Given the description of an element on the screen output the (x, y) to click on. 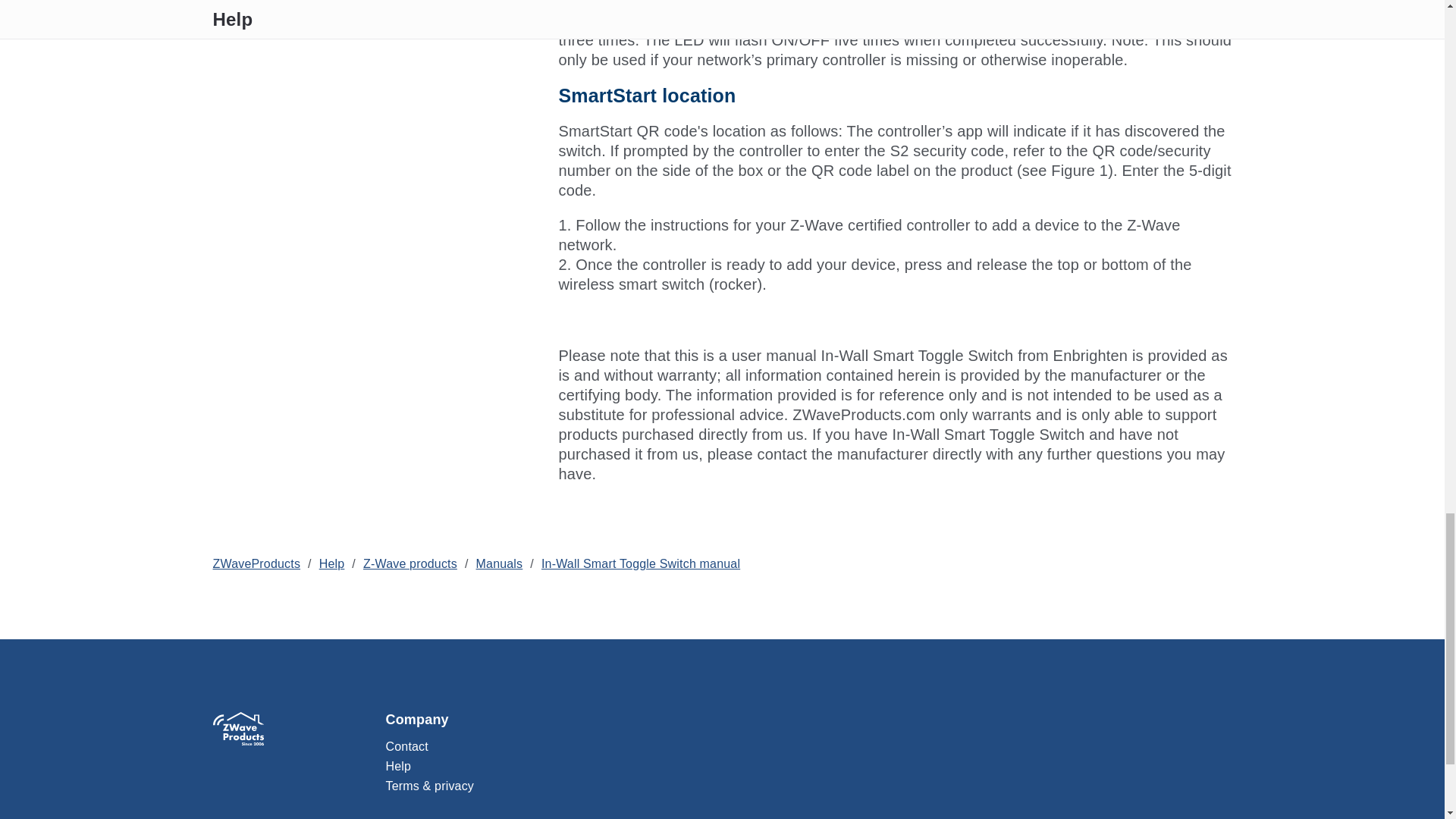
zwaveproducts (237, 728)
Contact (808, 749)
ZWaveProducts (255, 563)
Manuals (499, 563)
Z-Wave products (409, 563)
Help (808, 768)
In-Wall Smart Toggle Switch manual (640, 563)
Help (331, 563)
